Given the description of an element on the screen output the (x, y) to click on. 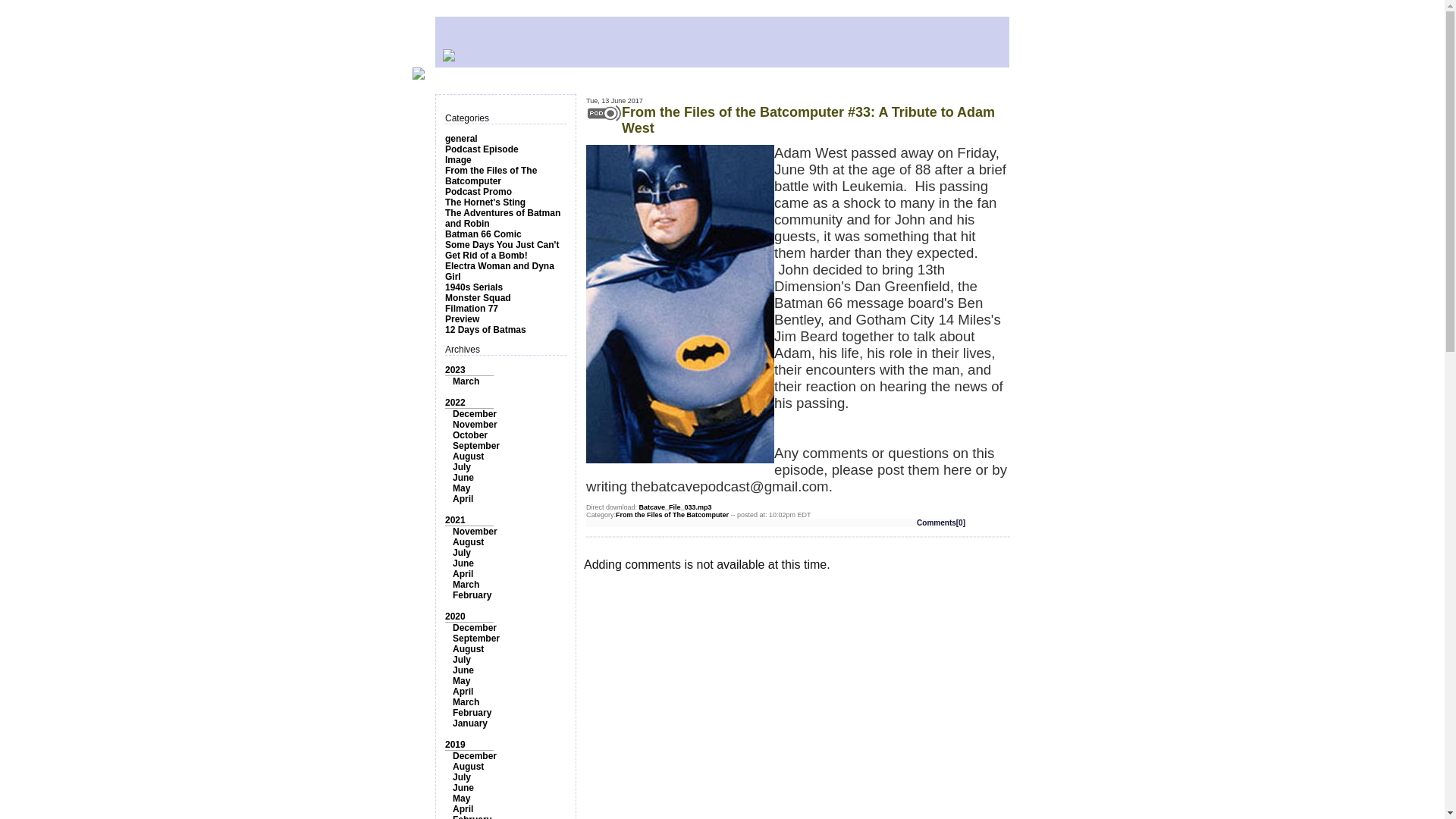
general (461, 138)
September (475, 445)
2020 (455, 615)
July (461, 659)
December (474, 413)
September (475, 638)
The Hornet's Sting (485, 202)
November (474, 424)
Filmation 77 (471, 308)
Some Days You Just Can't Get Rid of a Bomb! (502, 250)
